Given the description of an element on the screen output the (x, y) to click on. 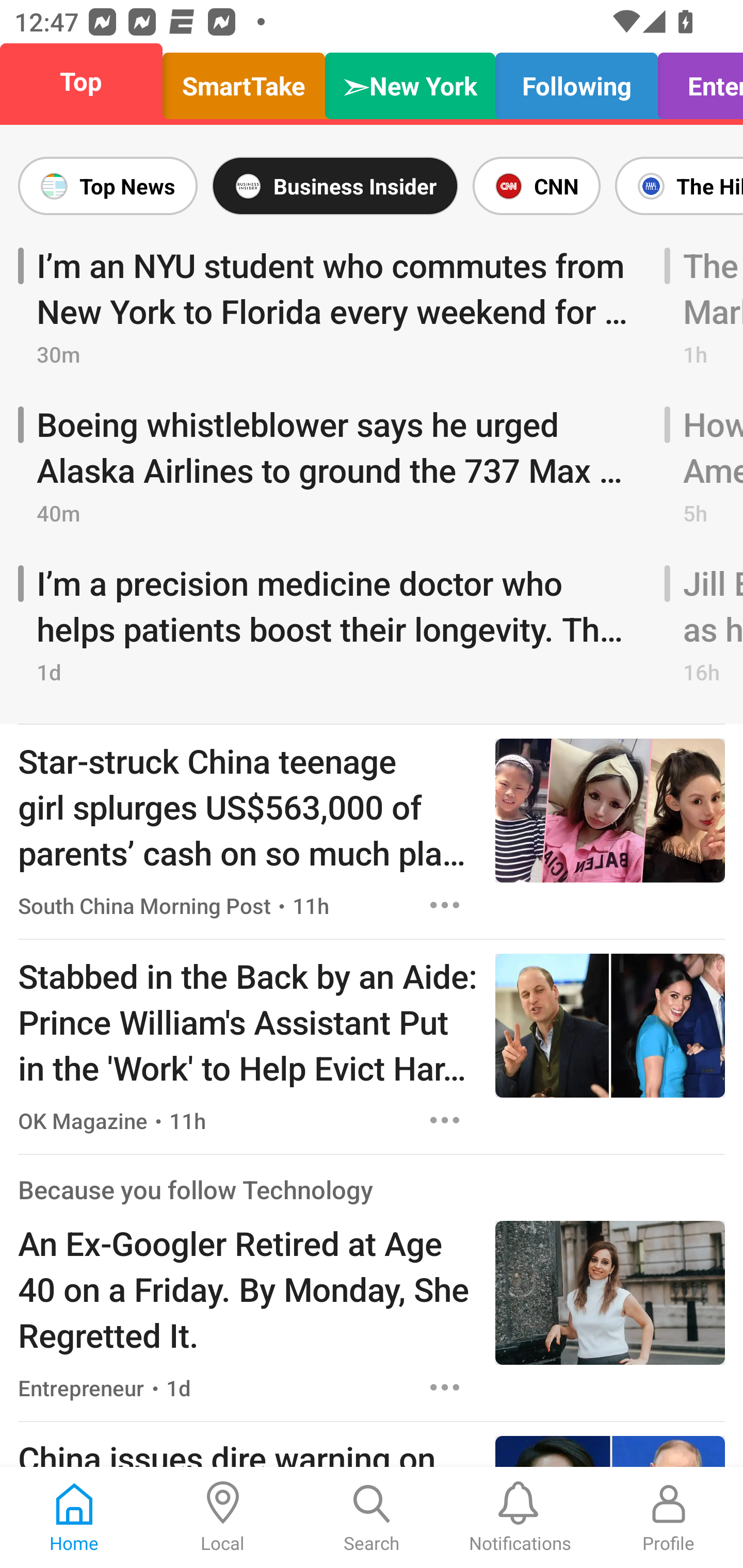
Top (86, 81)
SmartTake (243, 81)
➣New York (409, 81)
Following (576, 81)
Top News (111, 185)
CNN (536, 185)
The Hill (675, 185)
Options (444, 904)
Options (444, 1120)
Because you follow Technology (195, 1188)
Options (444, 1387)
Local (222, 1517)
Search (371, 1517)
Notifications (519, 1517)
Profile (668, 1517)
